Given the description of an element on the screen output the (x, y) to click on. 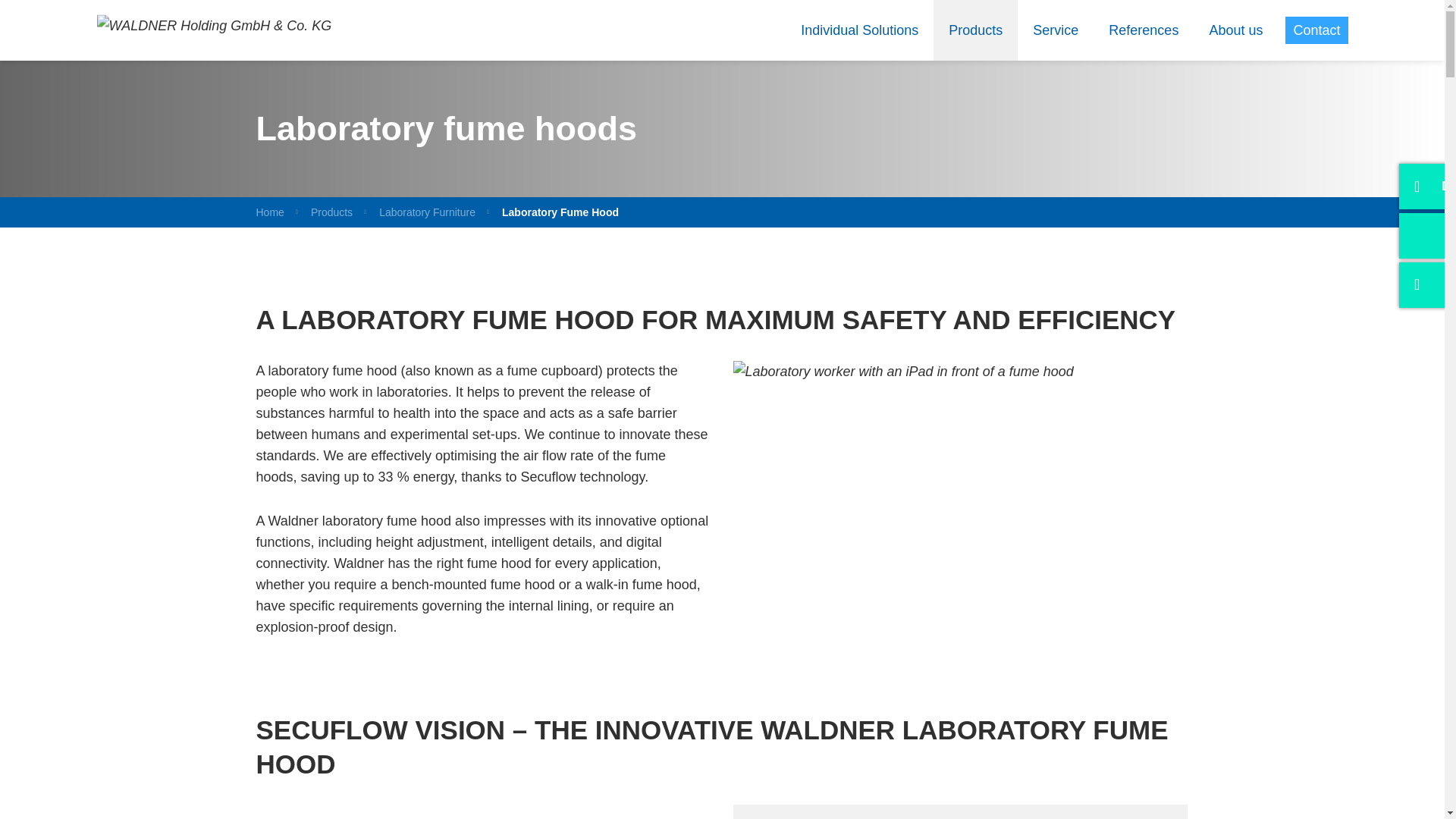
Products (976, 29)
Individual Solutions (859, 29)
Transparent laboratory hood "Secuflow Vision" (902, 371)
